Given the description of an element on the screen output the (x, y) to click on. 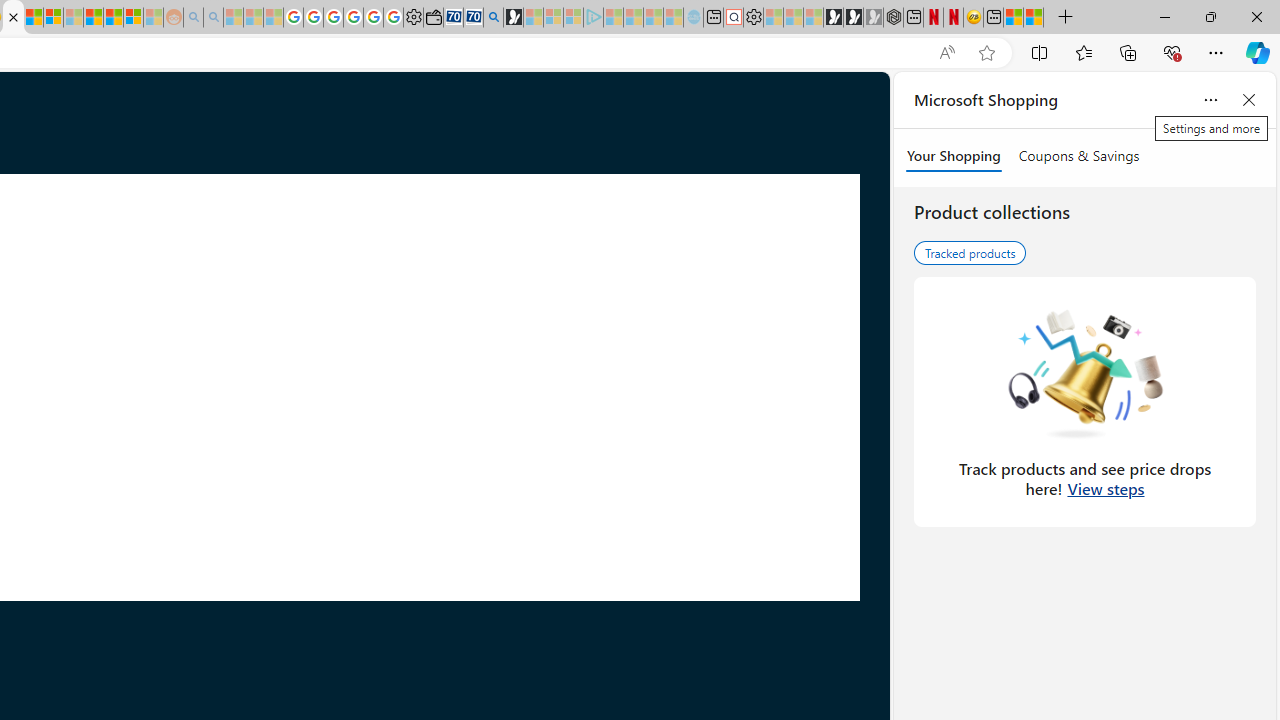
Utah sues federal government - Search - Sleeping (212, 17)
Wallet (432, 17)
Expert Portfolios (93, 17)
